Given the description of an element on the screen output the (x, y) to click on. 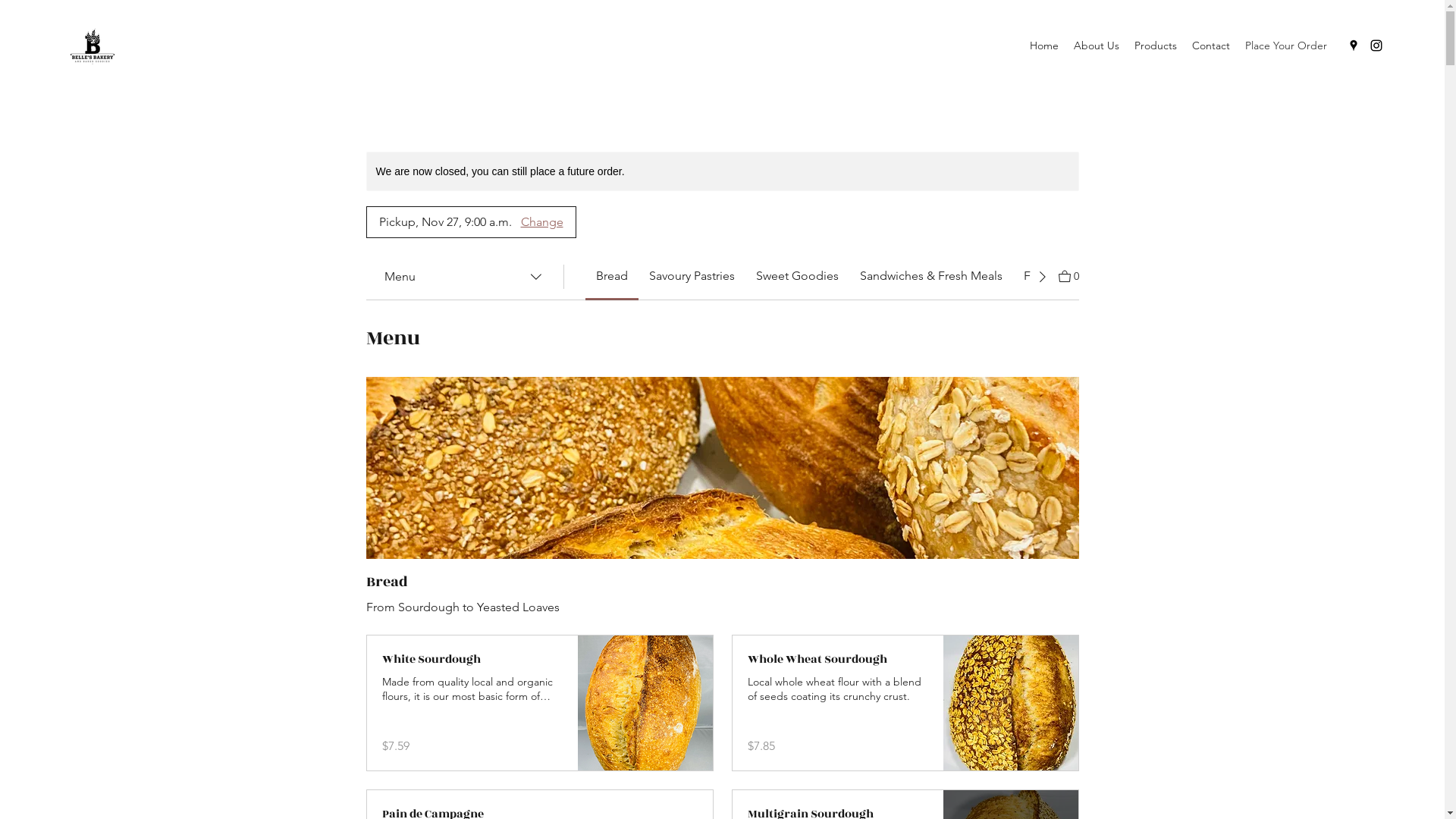
Whole Wheat Sourdough Element type: text (837, 659)
Place Your Order Element type: text (1285, 45)
About Us Element type: text (1096, 45)
Change Element type: text (544, 222)
Menu Element type: text (463, 276)
Contact Element type: text (1210, 45)
Home Element type: text (1044, 45)
0 Element type: text (1068, 274)
Products Element type: text (1155, 45)
White Sourdough Element type: text (472, 659)
